Given the description of an element on the screen output the (x, y) to click on. 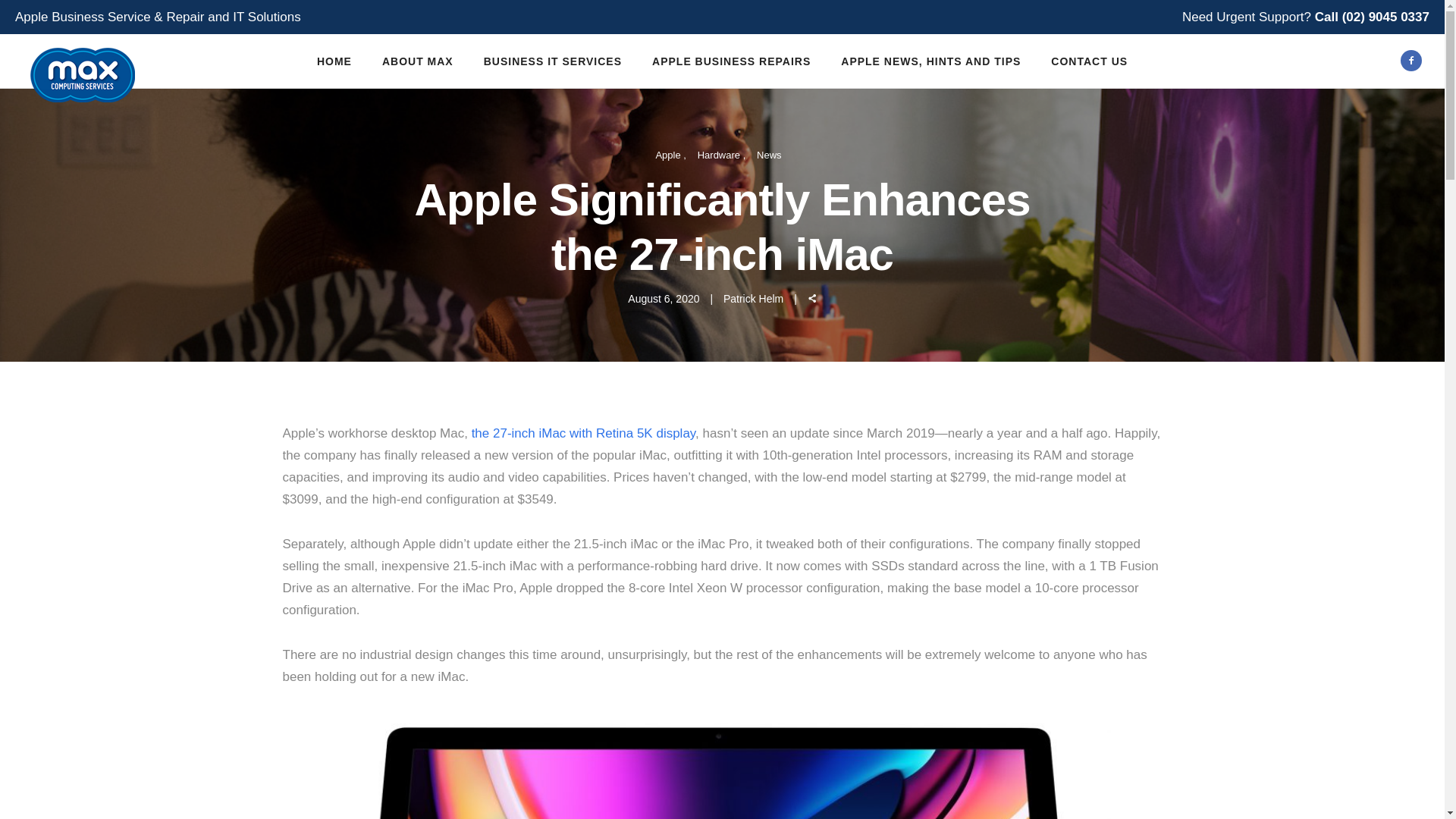
News Element type: text (768, 154)
HOME Element type: text (334, 61)
BUSINESS IT SERVICES Element type: text (552, 61)
ABOUT MAX Element type: text (417, 61)
APPLE BUSINESS REPAIRS Element type: text (731, 61)
Apple Element type: text (670, 154)
Hardware Element type: text (721, 154)
APPLE NEWS, HINTS AND TIPS Element type: text (930, 61)
CONTACT US Element type: text (1088, 61)
(02) 9045 0337 Element type: text (1385, 16)
the 27-inch iMac with Retina 5K display Element type: text (583, 433)
